Given the description of an element on the screen output the (x, y) to click on. 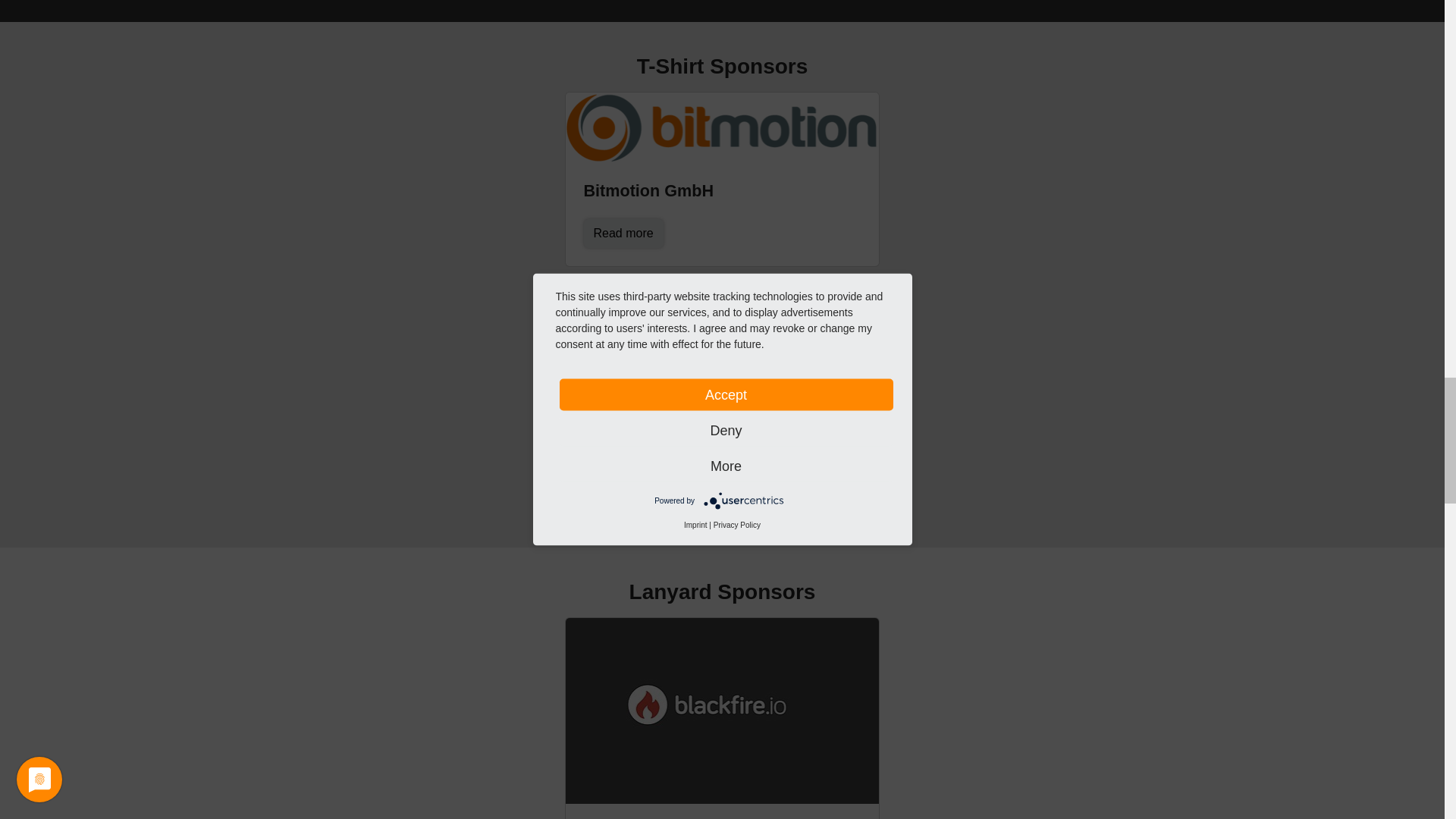
Read more (623, 233)
Read more (623, 481)
